Given the description of an element on the screen output the (x, y) to click on. 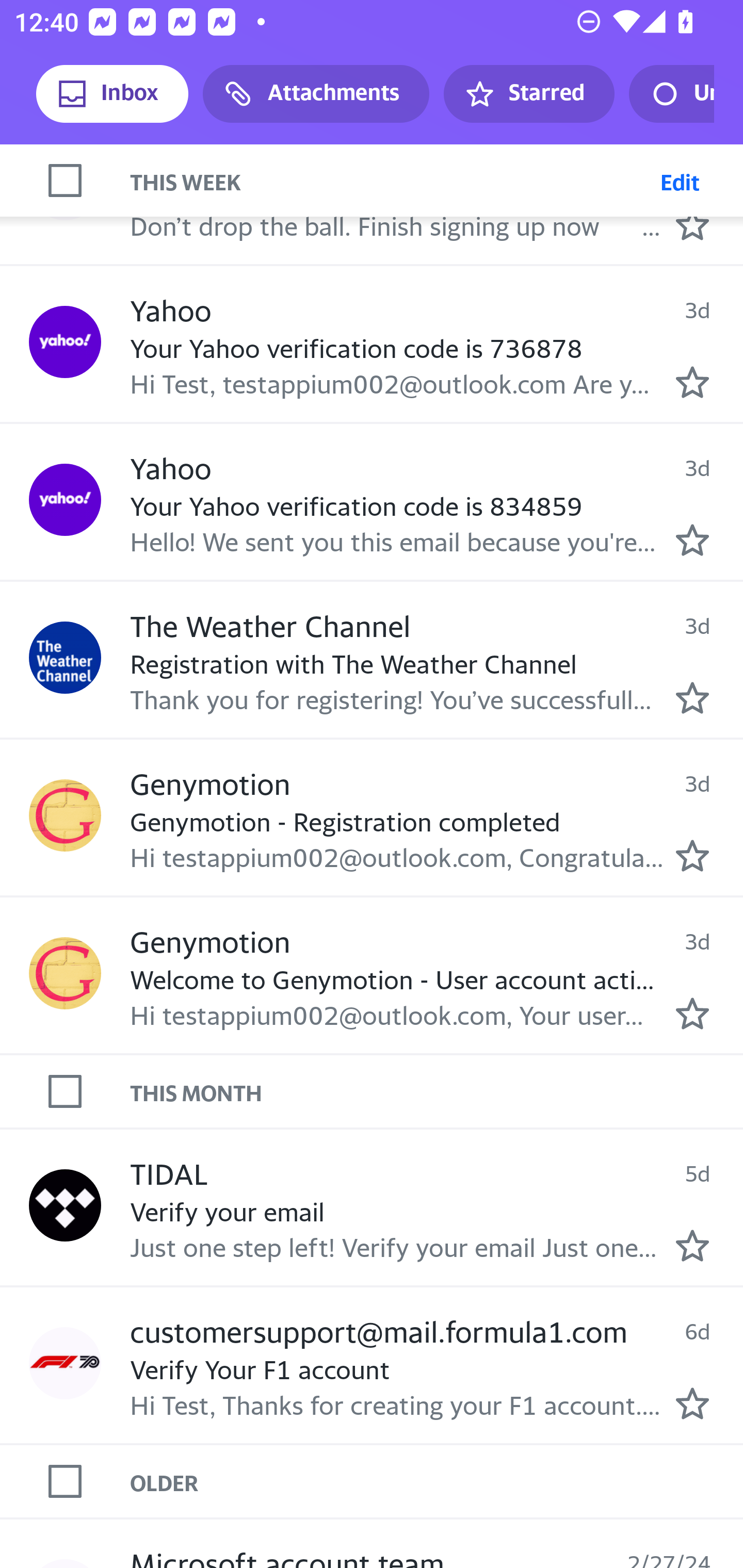
Attachments (315, 93)
Starred (528, 93)
Profile
NBA (64, 183)
Mark as starred. (692, 224)
Profile
Yahoo (64, 341)
Mark as starred. (692, 381)
Profile
Yahoo (64, 500)
Mark as starred. (692, 540)
Profile
The Weather Channel (64, 656)
Mark as starred. (692, 698)
Profile
Genymotion (64, 815)
Mark as starred. (692, 855)
Profile
Genymotion (64, 973)
Mark as starred. (692, 1013)
THIS MONTH (436, 1091)
Profile
TIDAL (64, 1205)
Mark as starred. (692, 1245)
Profile
customersupport@mail.formula1.com (64, 1362)
Mark as starred. (692, 1404)
OLDER (436, 1480)
